Given the description of an element on the screen output the (x, y) to click on. 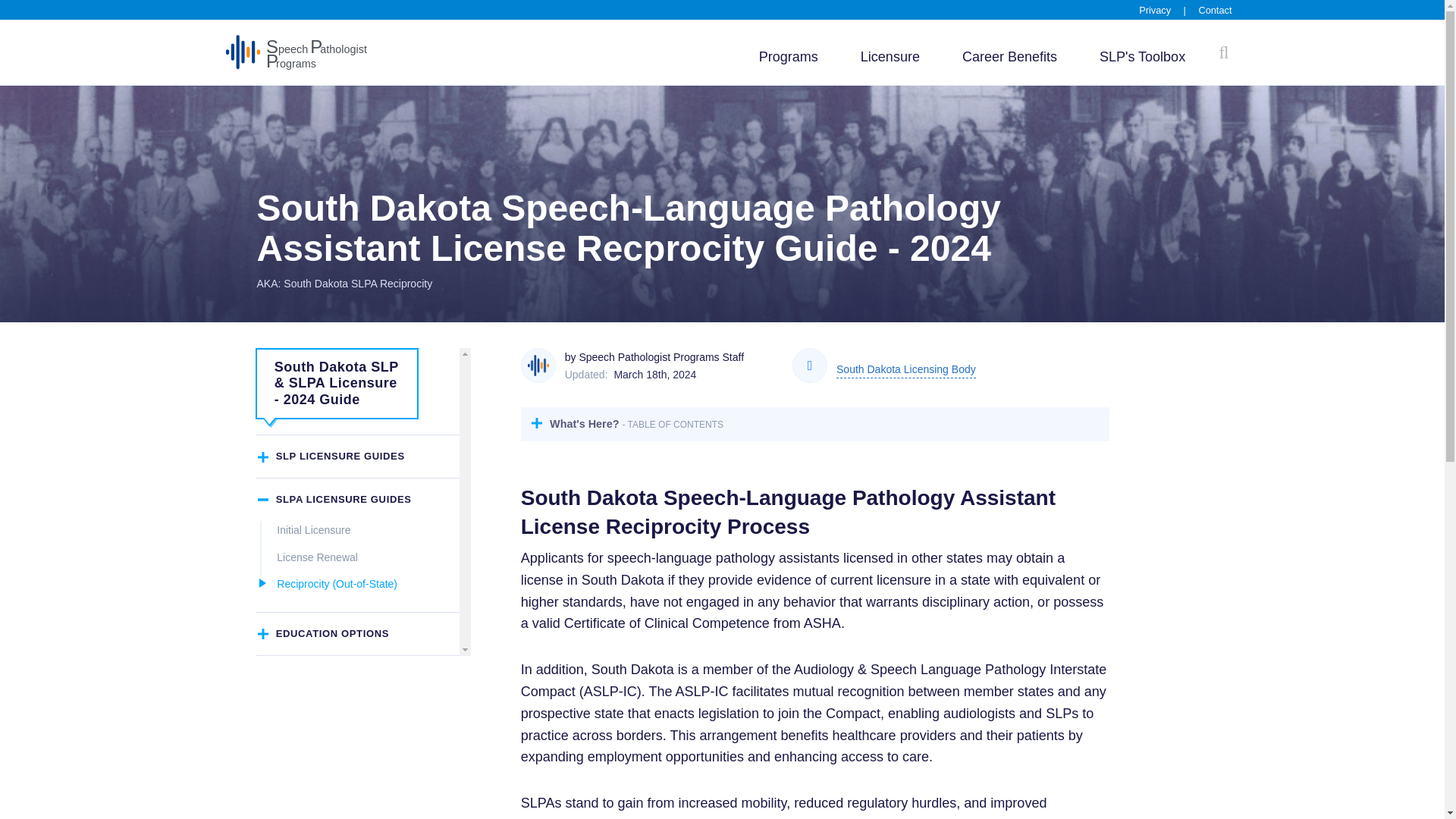
Programs (789, 57)
Licensure (890, 57)
SLP's Toolbox (1142, 57)
Contact (1214, 9)
Career Benefits (296, 52)
South Dakota Licensing Body (1009, 57)
Initial Licensure (905, 372)
Privacy (313, 530)
License Renewal (1154, 9)
